Given the description of an element on the screen output the (x, y) to click on. 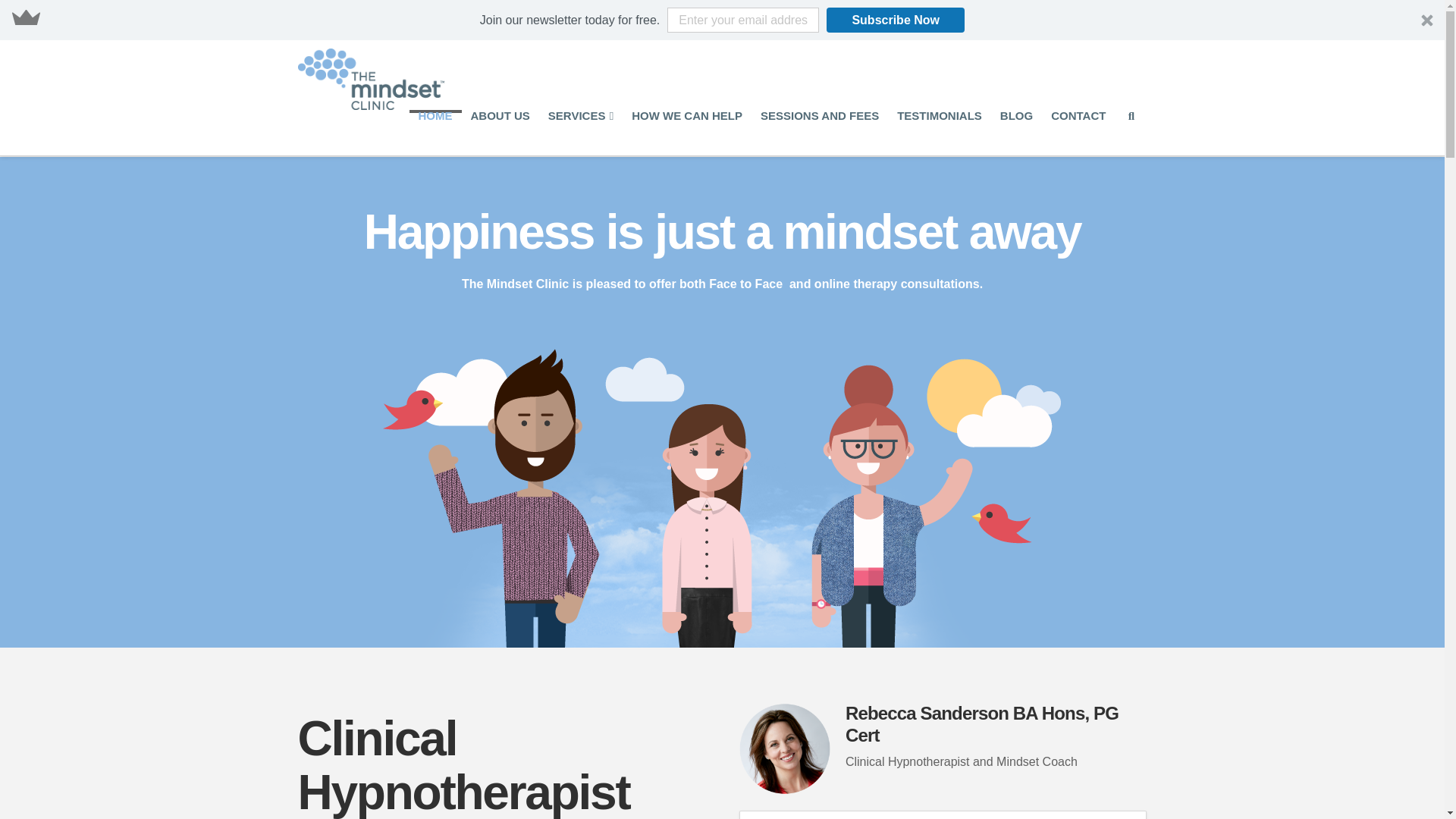
SERVICES (580, 132)
TESTIMONIALS (939, 132)
SESSIONS AND FEES (819, 132)
Subscribe Now (895, 19)
ABOUT US (499, 132)
BLOG (1016, 132)
HOME (435, 132)
CONTACT (1078, 132)
HOW WE CAN HELP (687, 132)
